Given the description of an element on the screen output the (x, y) to click on. 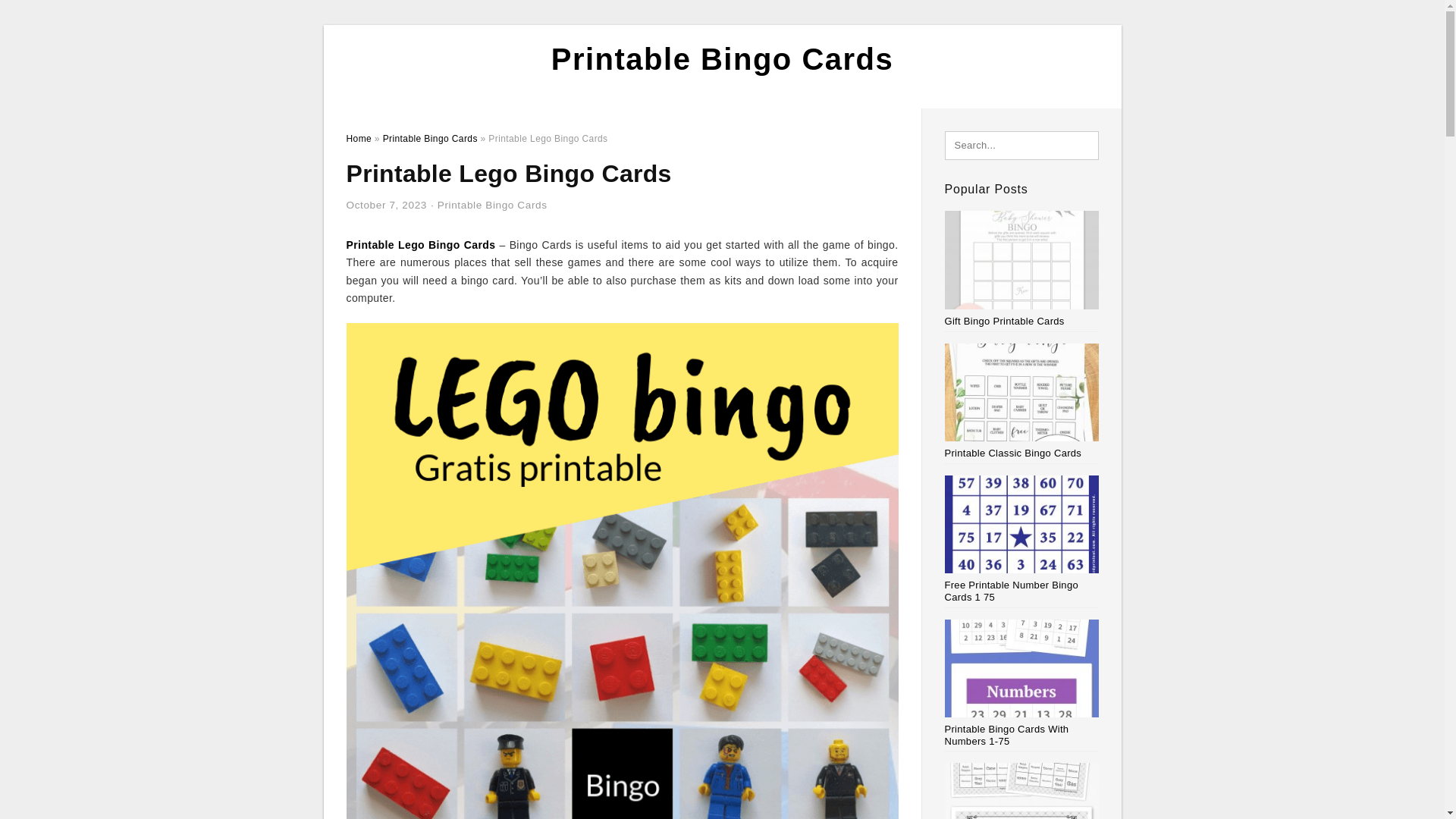
Printable Bingo Cards (492, 204)
Printable Bingo Cards (722, 59)
Printable Classic Bingo Cards (1021, 401)
Printable Bingo Cards (429, 138)
Home (358, 138)
Printable Lego Bingo Cards (420, 244)
Free Customizable Bingo Cards Printable (1021, 790)
Printable Bingo Cards With Numbers 1-75 (1021, 683)
Search (43, 15)
Free Printable Number Bingo Cards 1 75 (1021, 539)
Gift Bingo Printable Cards (1021, 268)
